Given the description of an element on the screen output the (x, y) to click on. 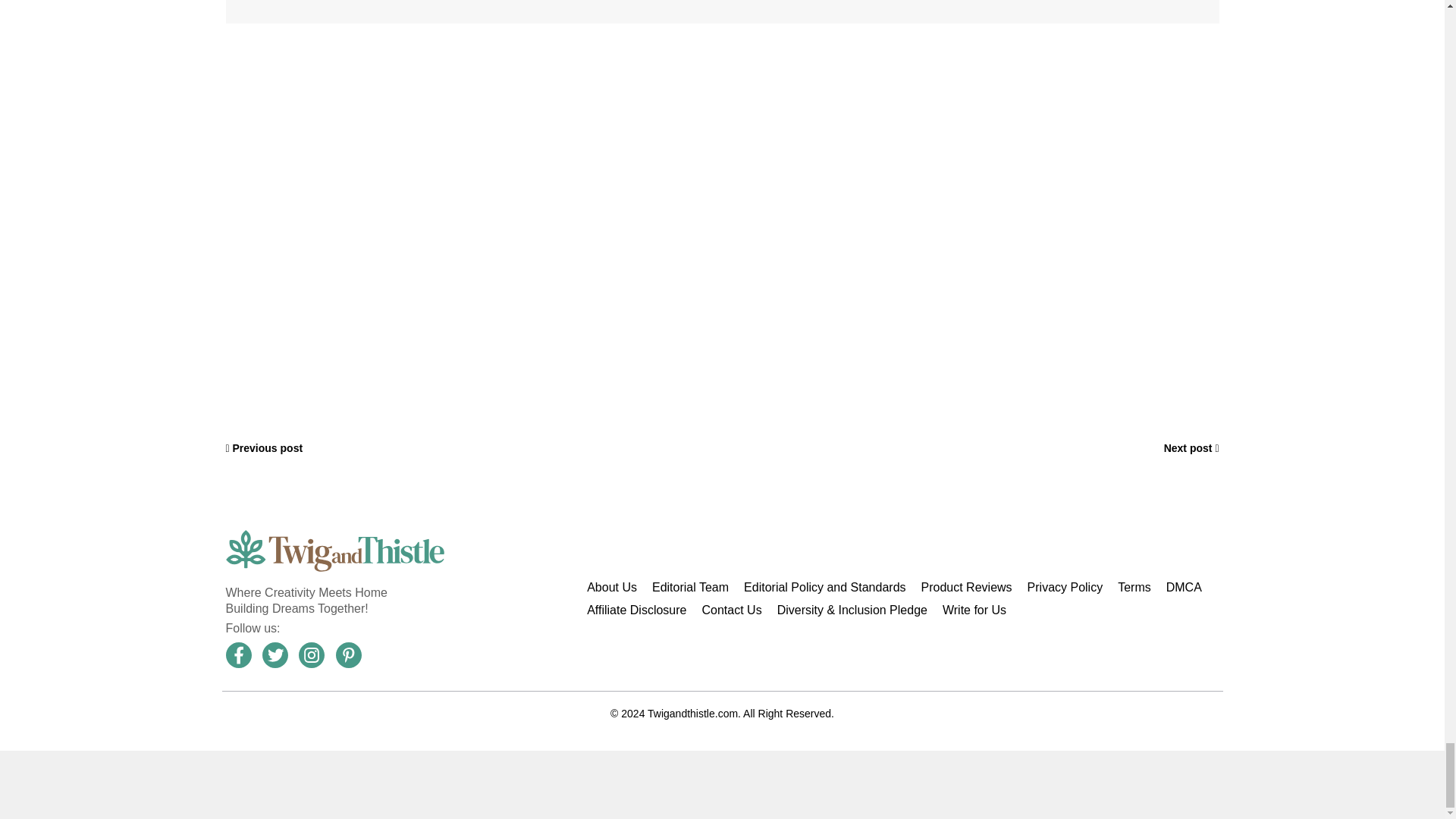
Twigandthistle (334, 550)
